Given the description of an element on the screen output the (x, y) to click on. 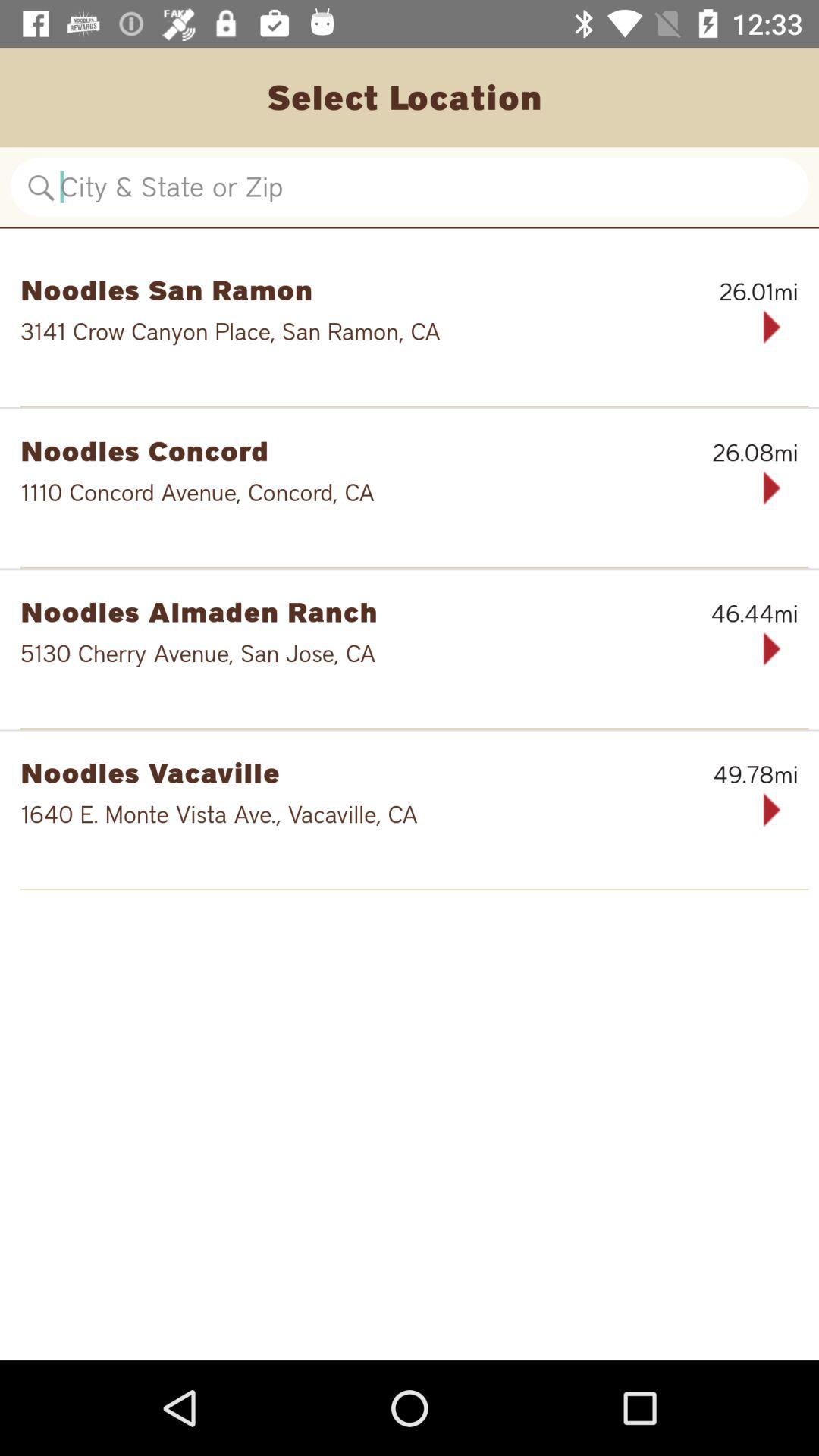
click 5130 cherry avenue item (361, 653)
